Given the description of an element on the screen output the (x, y) to click on. 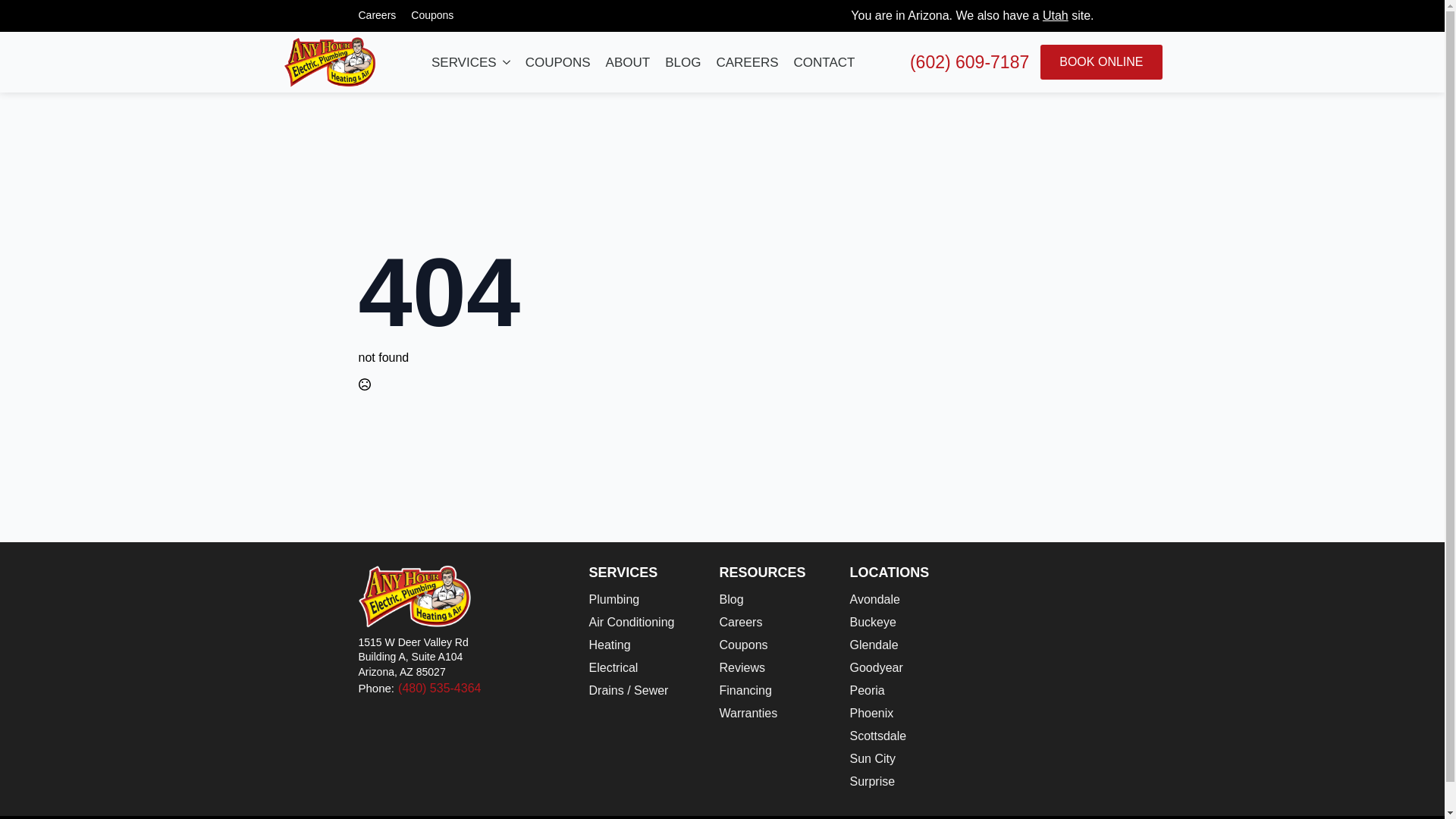
Coupons (432, 14)
SERVICES (459, 62)
ABOUT (628, 62)
Utah (1055, 15)
BLOG (682, 62)
BOOK ONLINE (1101, 62)
Careers (376, 14)
COUPONS (558, 62)
CAREERS (746, 62)
CONTACT (824, 62)
